Given the description of an element on the screen output the (x, y) to click on. 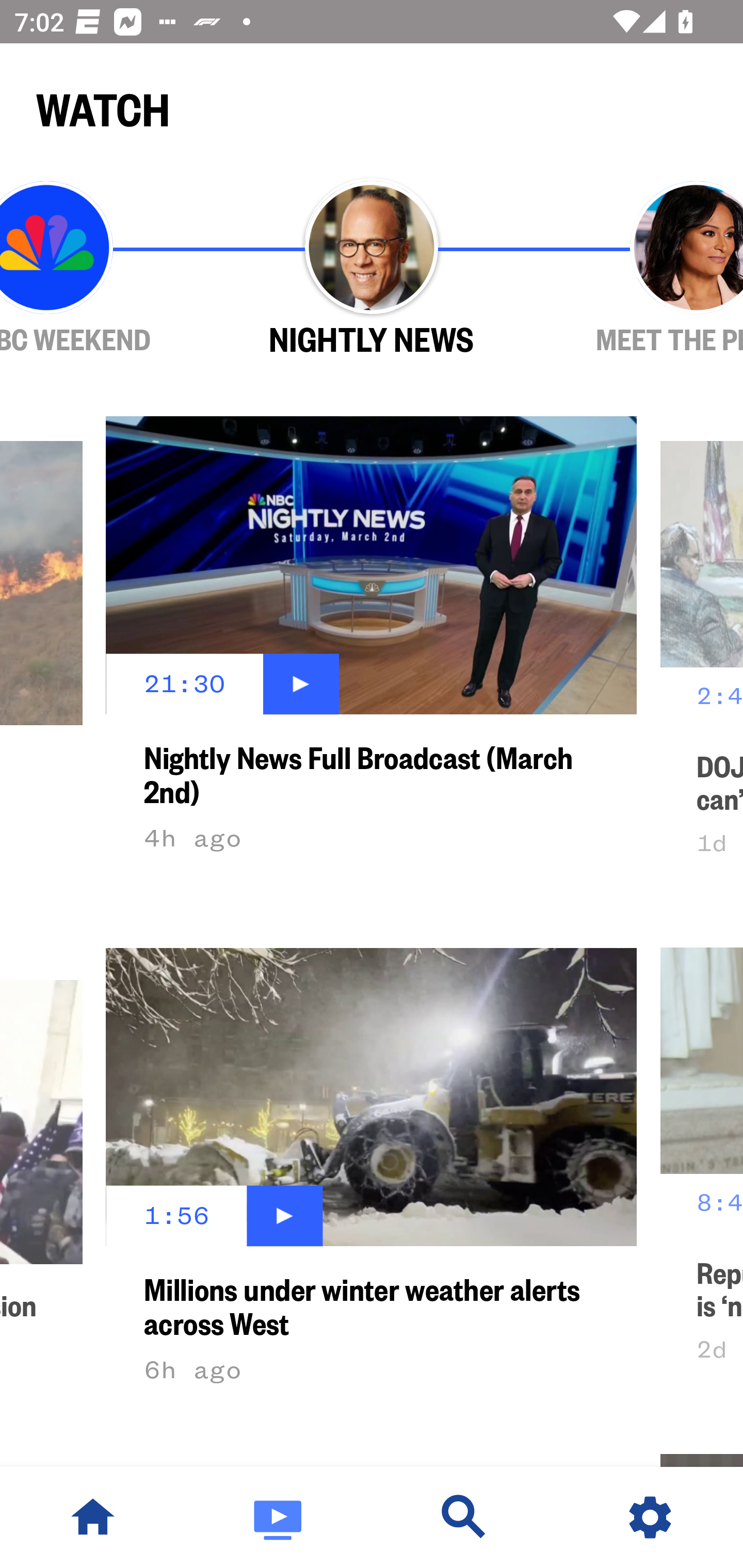
MSNBC WEEKEND (104, 268)
NIGHTLY NEWS (371, 268)
MEET THE PRESS (638, 268)
NBC News Home (92, 1517)
Discover (464, 1517)
Settings (650, 1517)
